Given the description of an element on the screen output the (x, y) to click on. 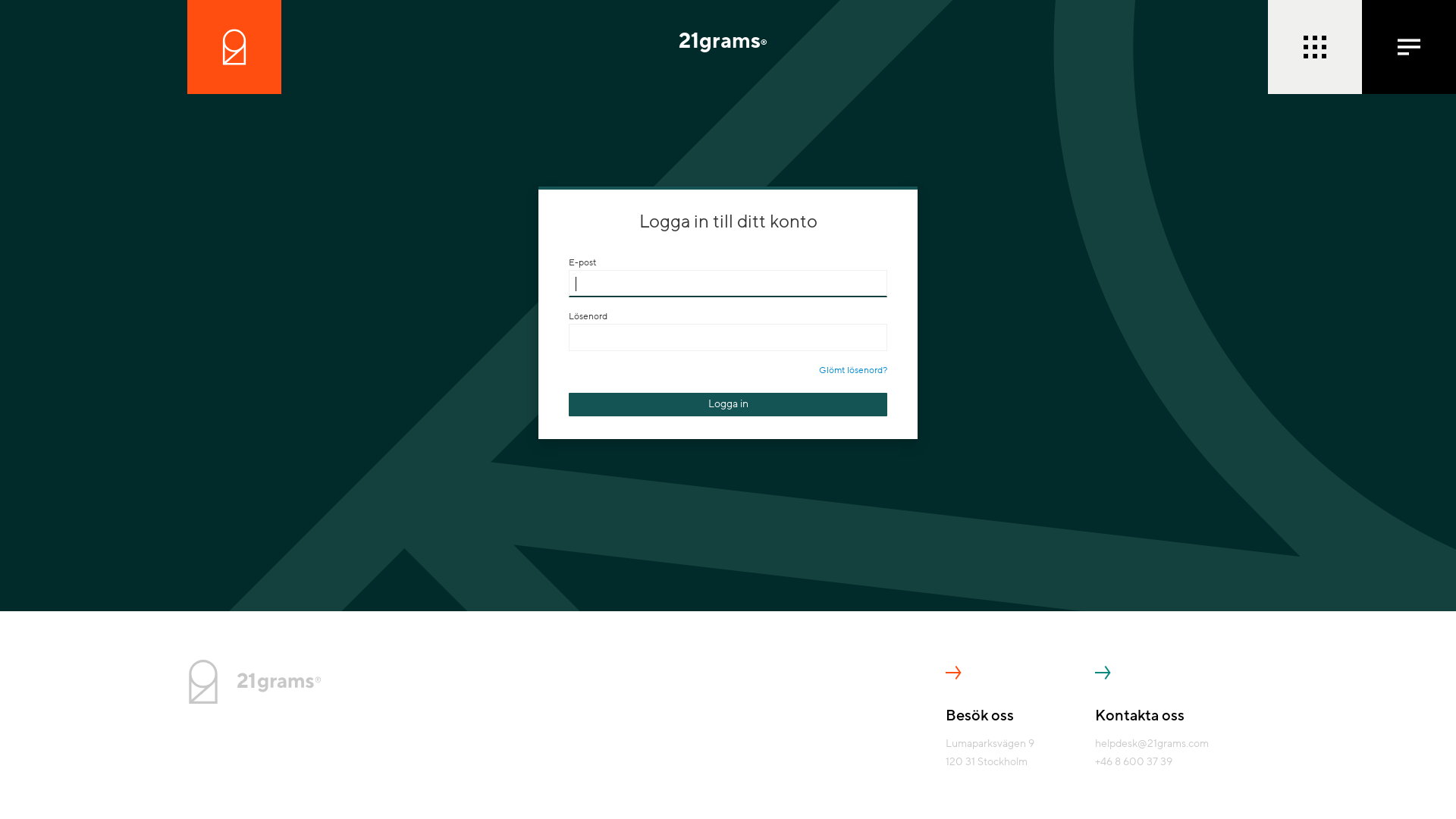
helpdesk@21grams.com Element type: text (1151, 743)
Logga in Element type: text (727, 404)
+46 8 600 37 39 Element type: text (1133, 761)
Kontakta oss Element type: text (1151, 709)
